Given the description of an element on the screen output the (x, y) to click on. 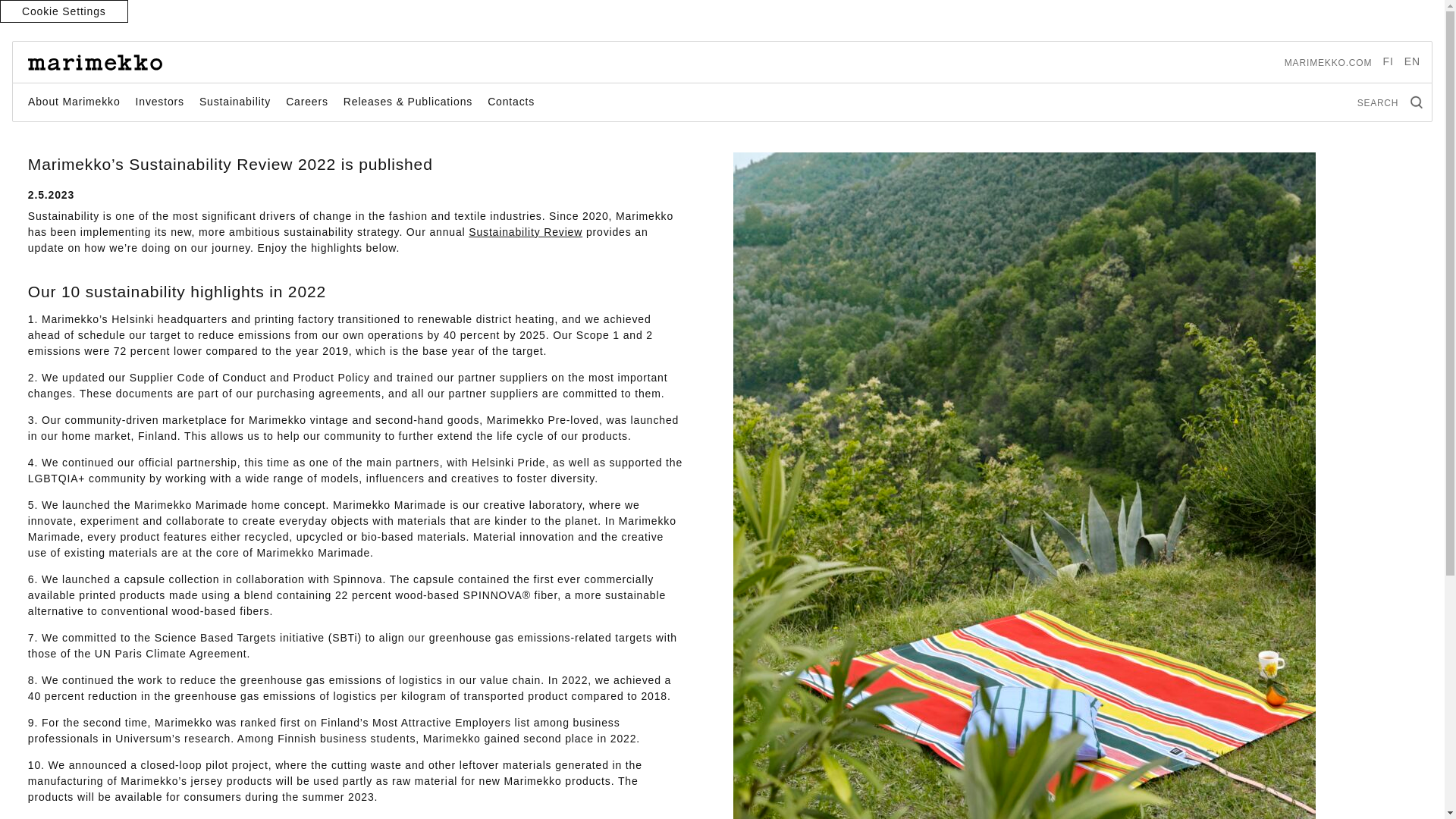
EN (1413, 61)
Investors (159, 102)
About Marimekko (73, 102)
MARIMEKKO.COM (1328, 62)
Cookie Settings (64, 11)
